Given the description of an element on the screen output the (x, y) to click on. 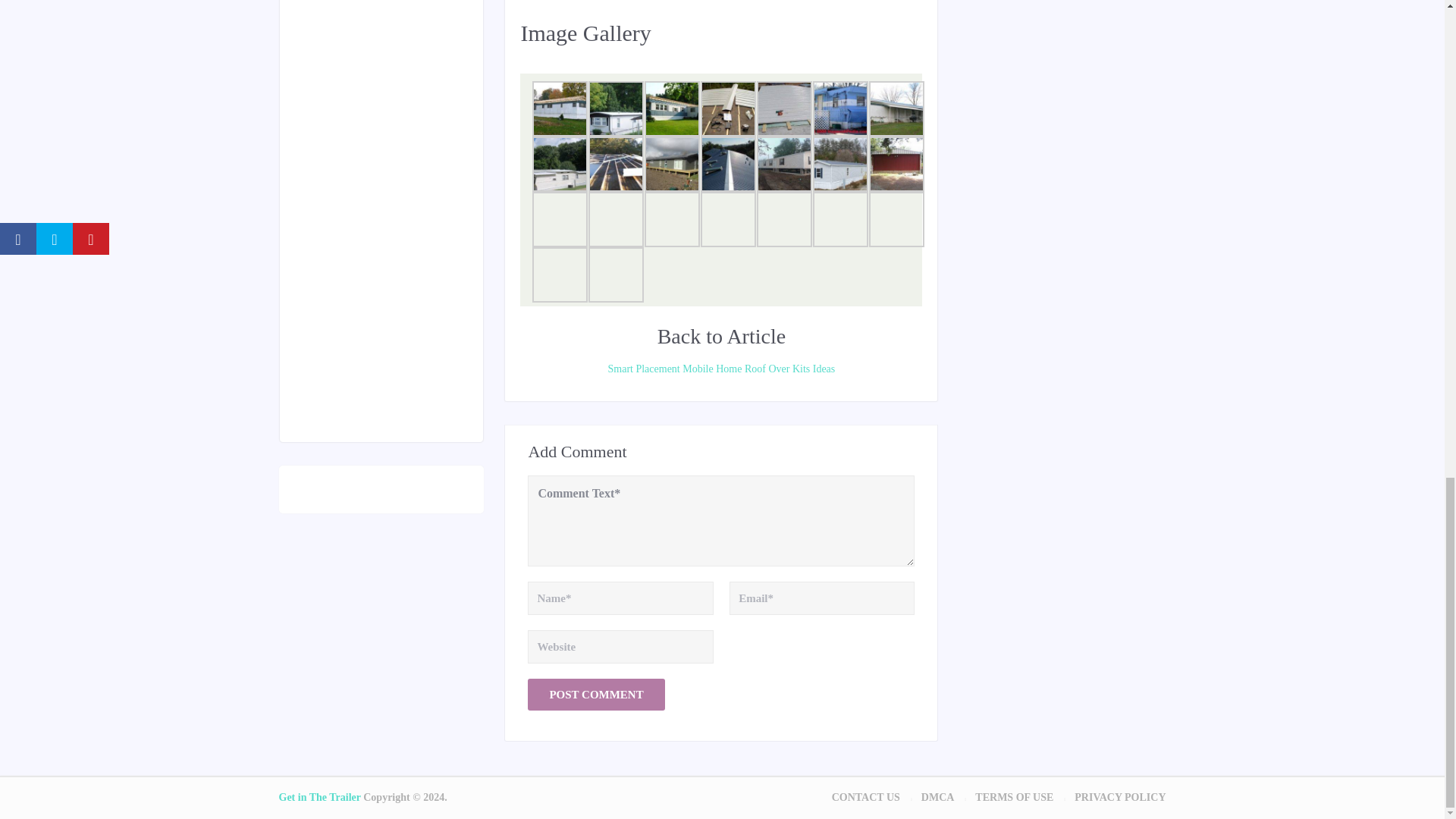
Smart Placement Mobile Home Roof Over Kits Ideas (720, 369)
Post Comment (595, 694)
